Given the description of an element on the screen output the (x, y) to click on. 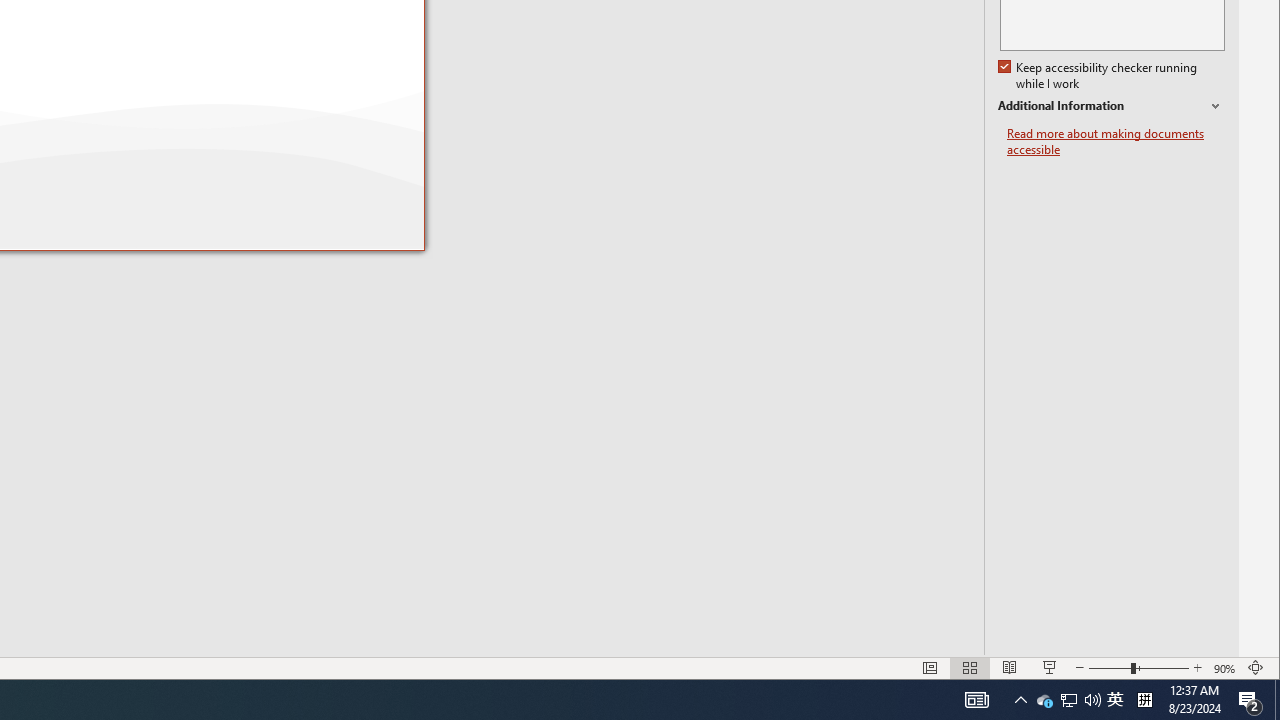
Keep accessibility checker running while I work (1044, 699)
Zoom 90% (1099, 76)
Additional Information (1225, 668)
